Given the description of an element on the screen output the (x, y) to click on. 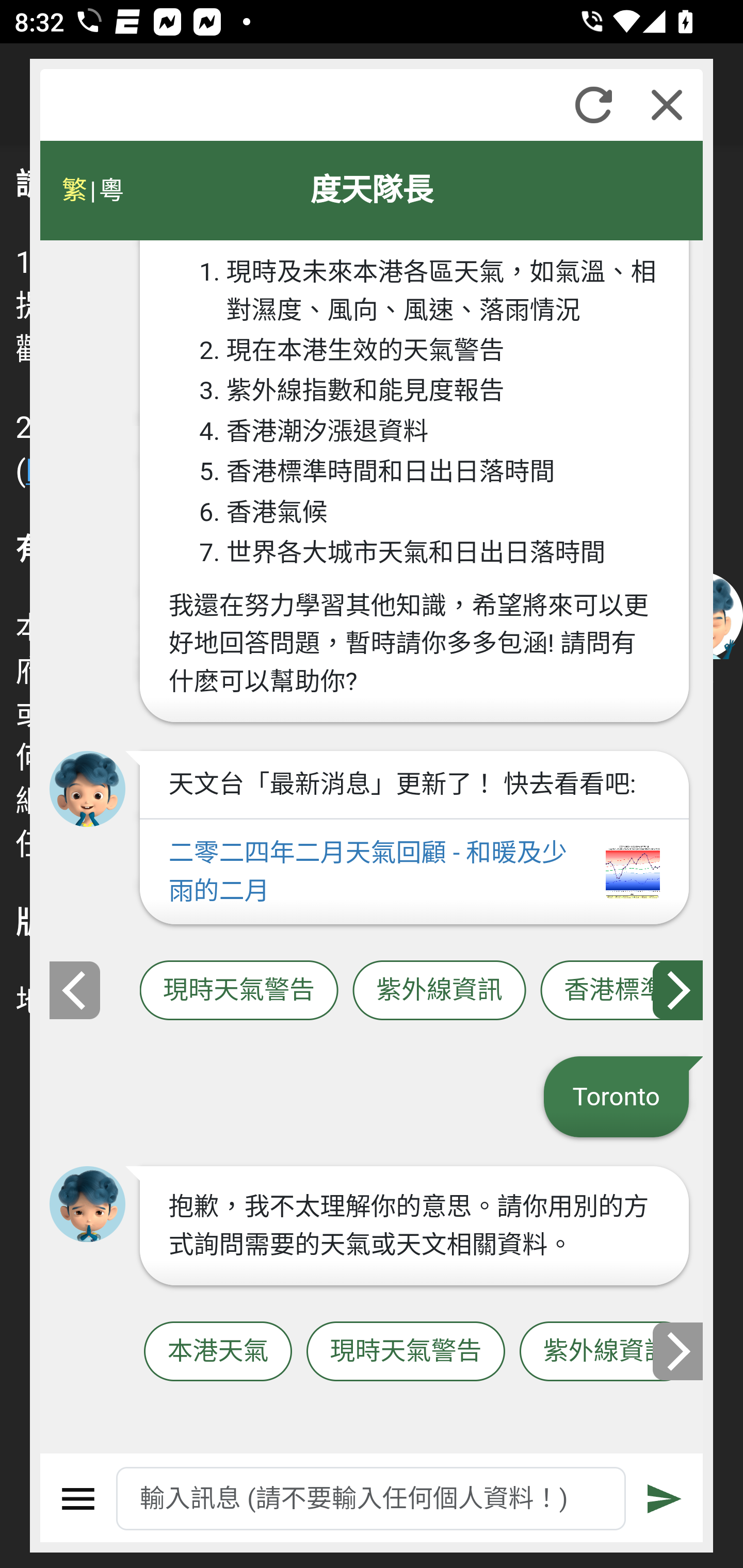
重新整理 (593, 104)
關閉 (666, 104)
繁 (73, 190)
粵 (110, 190)
二零二四年二月天氣回顧 - 和暖及少雨的二月 (413, 872)
上一張 (74, 989)
現時天氣警告 (238, 990)
紫外線資訊 (438, 990)
下一張 (678, 989)
本港天氣 (217, 1351)
現時天氣警告 (405, 1351)
紫外線資訊 (605, 1351)
下一張 (678, 1351)
選單 (78, 1498)
遞交 (665, 1498)
